Given the description of an element on the screen output the (x, y) to click on. 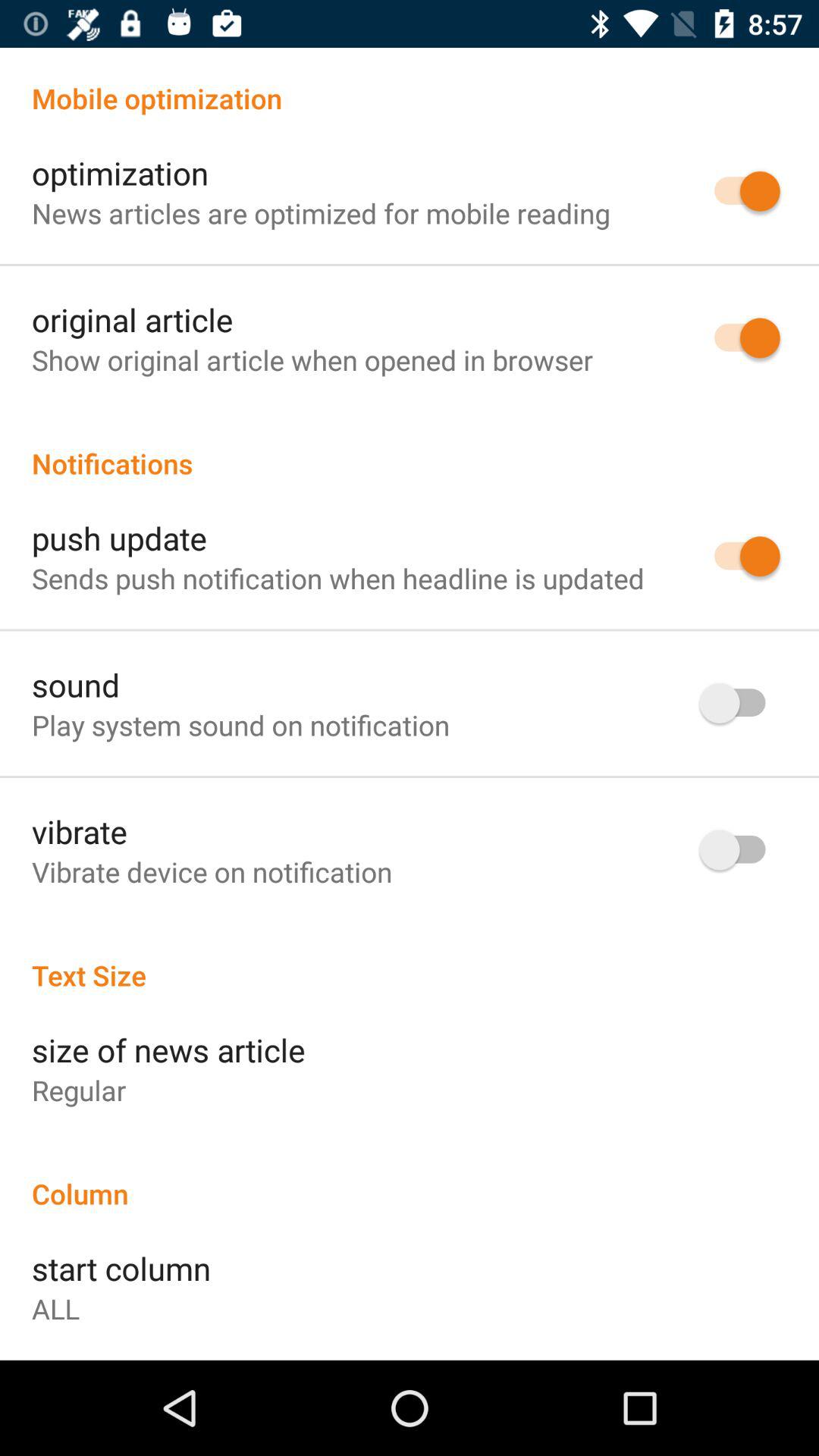
tap the icon above push update item (409, 447)
